Given the description of an element on the screen output the (x, y) to click on. 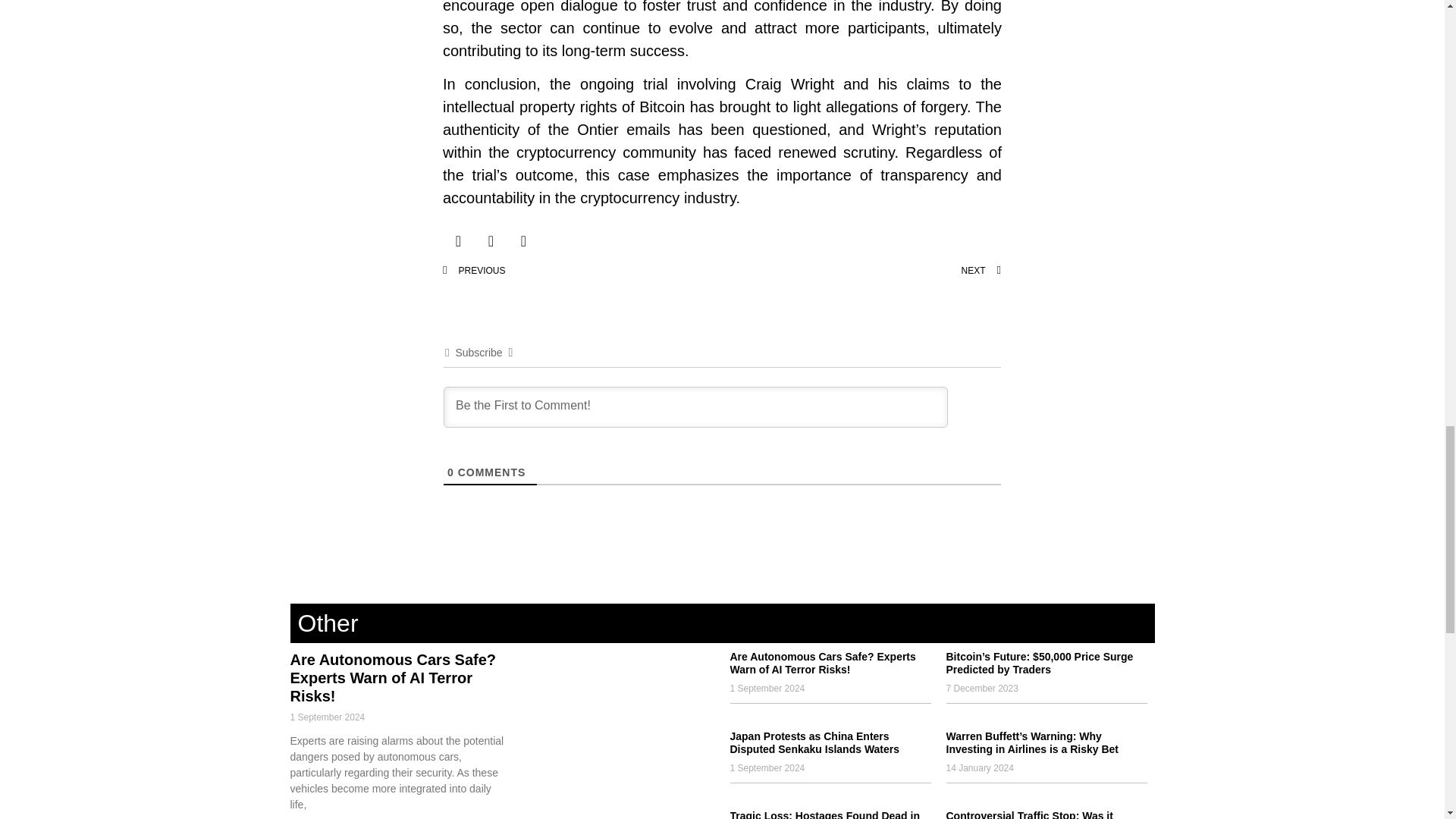
Are Autonomous Cars Safe? Experts Warn of AI Terror Risks! (822, 662)
PREVIOUS (582, 271)
NEXT (861, 271)
Are Autonomous Cars Safe? Experts Warn of AI Terror Risks! (392, 677)
